Given the description of an element on the screen output the (x, y) to click on. 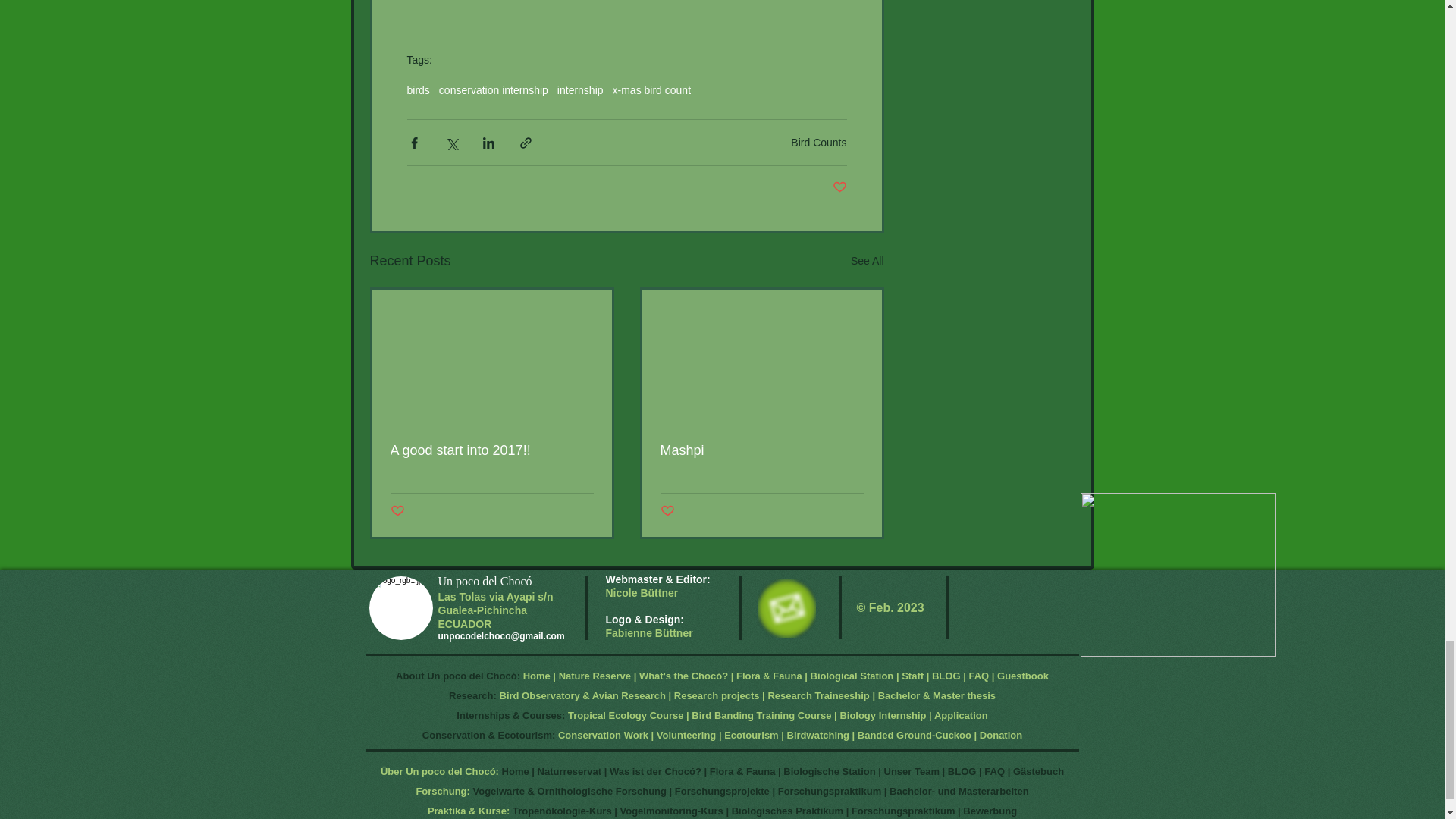
Mashpi (761, 450)
A good start into 2017!! (491, 450)
EMail (786, 608)
conservation internship (493, 90)
internship (580, 90)
Post not marked as liked (397, 511)
Bird Counts (817, 142)
See All (866, 260)
x-mas bird count (651, 90)
Post not marked as liked (666, 511)
